Given the description of an element on the screen output the (x, y) to click on. 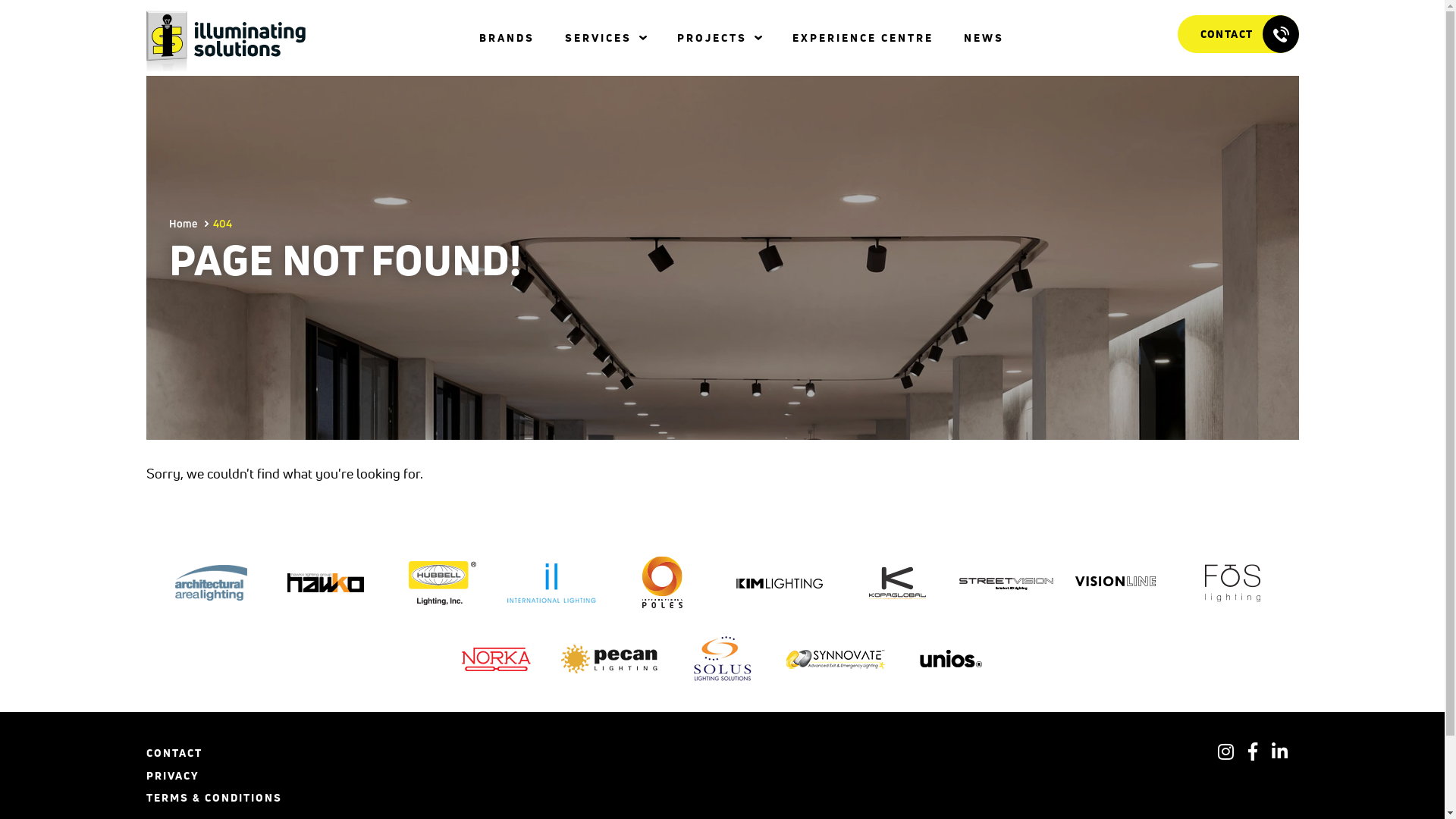
TERMS & CONDITIONS Element type: text (213, 799)
SERVICES Element type: text (597, 37)
NEWS Element type: text (983, 37)
CONTACT Element type: text (173, 755)
PROJECTS Element type: text (712, 37)
CONTACT Element type: text (1238, 34)
BRANDS Element type: text (506, 37)
PRIVACY Element type: text (171, 777)
EXPERIENCE CENTRE Element type: text (862, 37)
Home Element type: text (182, 222)
